Given the description of an element on the screen output the (x, y) to click on. 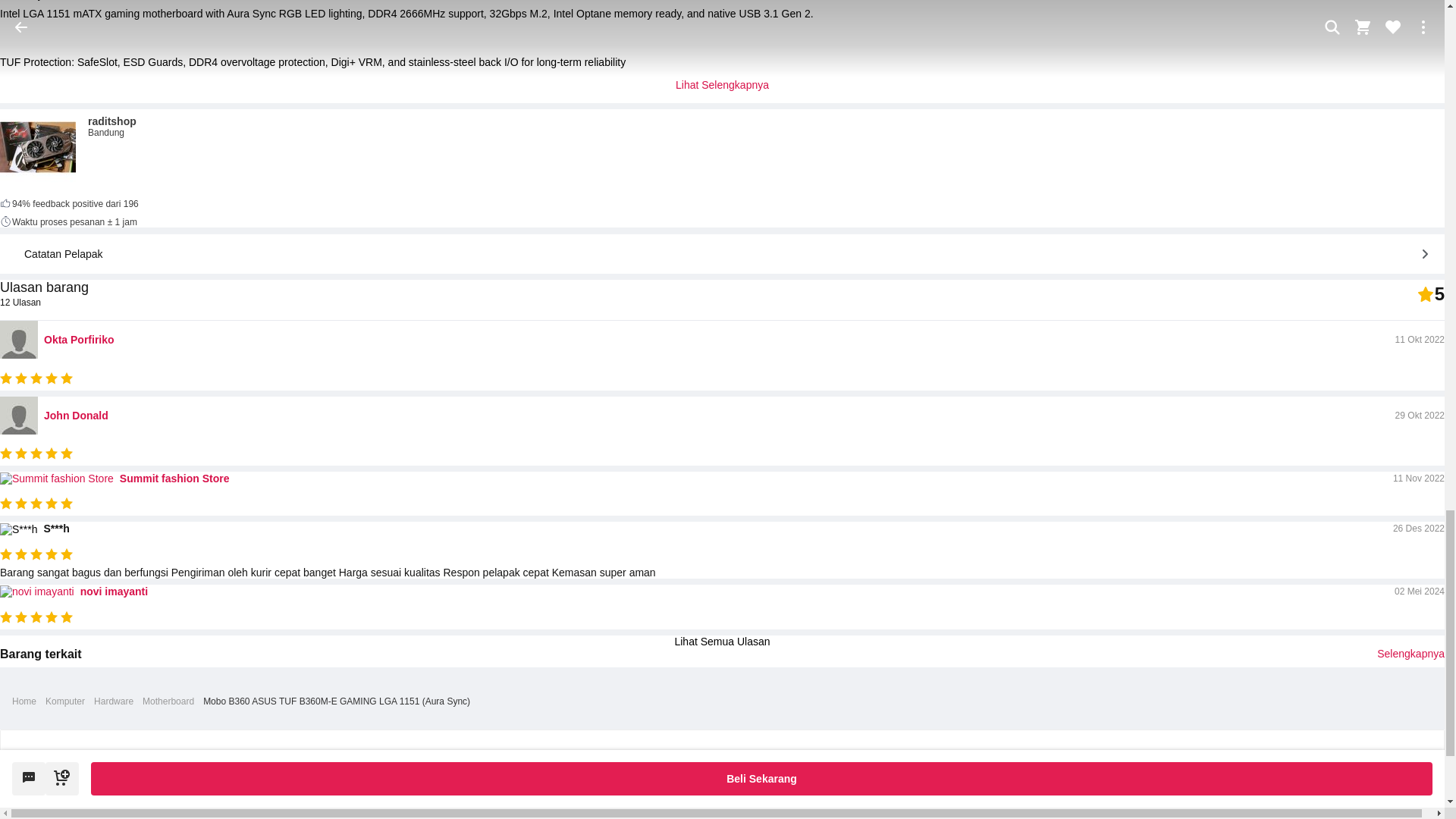
Download BL apps for iOS on App Store (765, 808)
Android (674, 808)
Home (23, 701)
novi imayanti (114, 591)
John Donald (75, 415)
Lihat Selengkapnya (721, 84)
Motherboard (167, 701)
Summit fashion Store (174, 478)
Download BL apps for Android on Google Playstore (674, 808)
Okta Porfiriko (79, 339)
Iphone (765, 808)
Komputer (64, 701)
Bandung (111, 132)
Hardware (113, 701)
raditshop (111, 121)
